Given the description of an element on the screen output the (x, y) to click on. 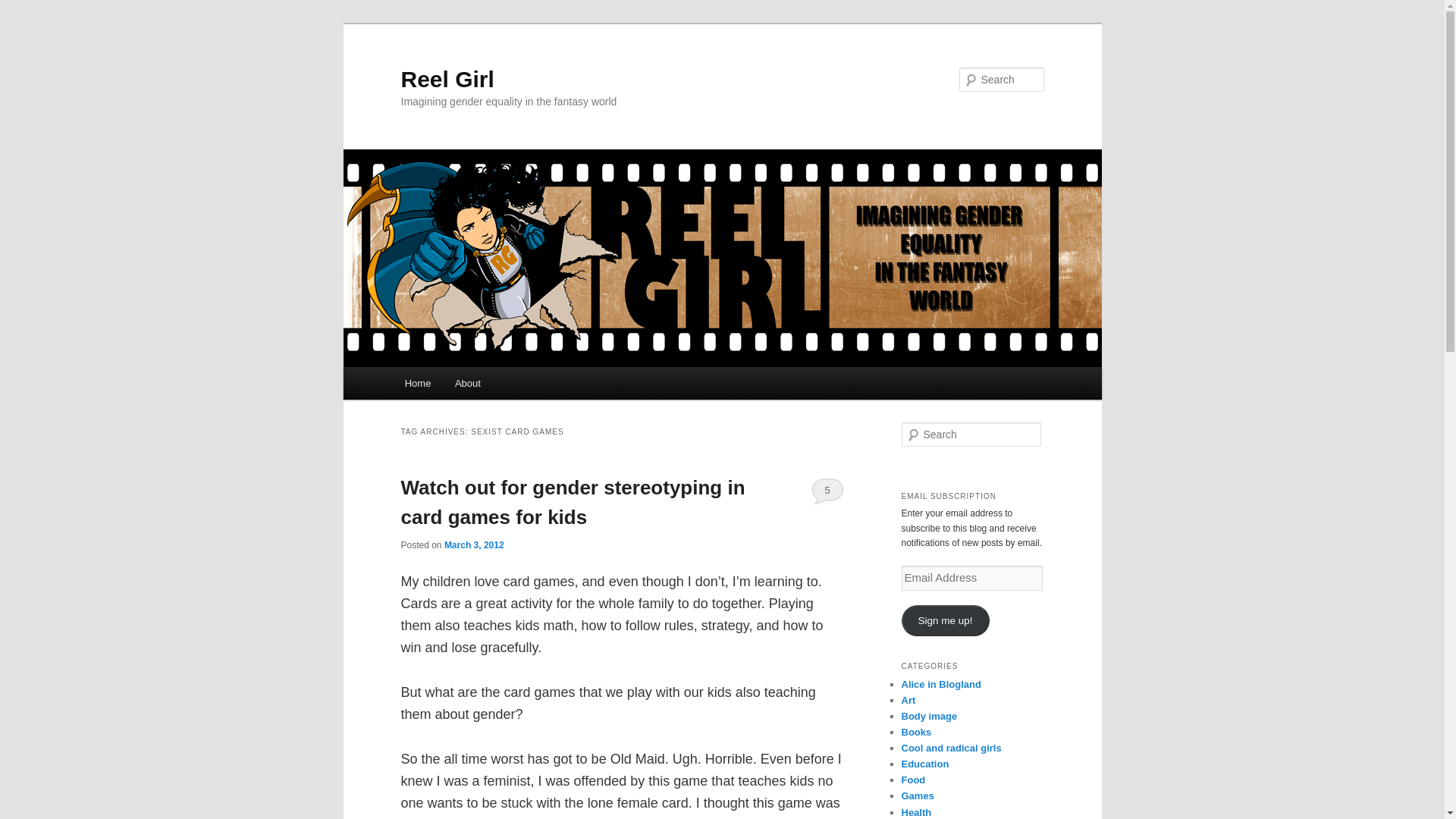
Food (912, 779)
About (467, 382)
Health (916, 812)
Books (916, 731)
Home (417, 382)
Cool and radical girls (951, 747)
Reel Girl (446, 78)
Watch out for gender stereotyping in card games for kids (572, 501)
Body image (928, 715)
Search (21, 11)
Art (908, 699)
Alice in Blogland (940, 684)
March 3, 2012 (473, 544)
Search (24, 8)
